Given the description of an element on the screen output the (x, y) to click on. 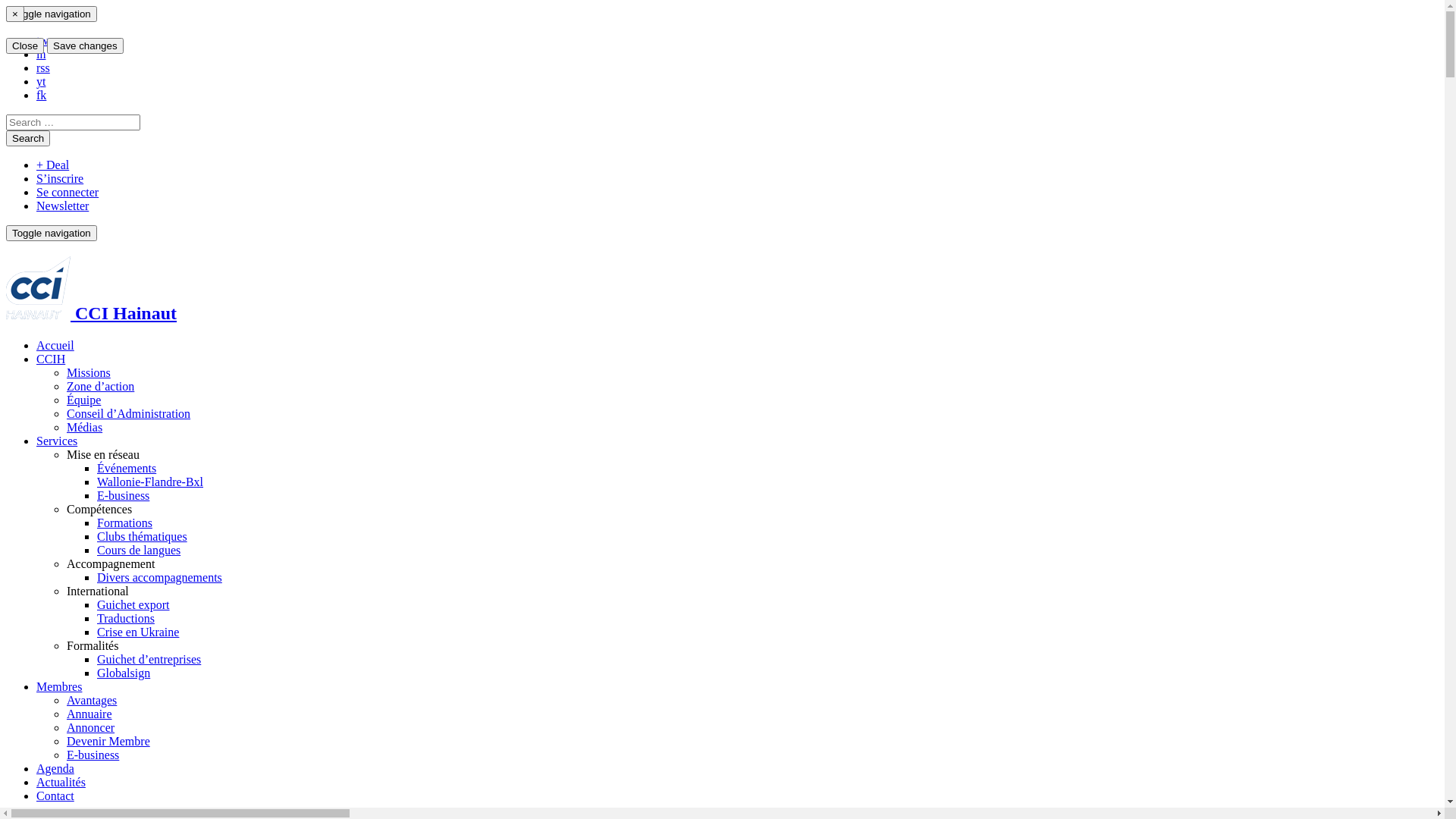
fk Element type: text (41, 94)
Globalsign Element type: text (123, 672)
Toggle navigation Element type: text (51, 233)
tw Element type: text (42, 40)
Divers accompagnements Element type: text (159, 577)
rss Element type: text (43, 67)
Services Element type: text (56, 440)
Annoncer Element type: text (90, 727)
Crise en Ukraine Element type: text (137, 631)
E-business Element type: text (92, 754)
CCIH Element type: text (50, 358)
yt Element type: text (40, 81)
Save changes Element type: text (84, 45)
Search Element type: text (28, 138)
Membres Element type: text (58, 686)
Toggle navigation Element type: text (51, 13)
Formations Element type: text (124, 522)
in Element type: text (40, 53)
E-business Element type: text (123, 495)
Avantages Element type: text (91, 699)
Newsletter Element type: text (62, 205)
Accompagnement Element type: text (110, 563)
Guichet export Element type: text (133, 604)
Wallonie-Flandre-Bxl Element type: text (150, 481)
Agenda Element type: text (55, 768)
Close Element type: text (24, 45)
Se connecter Element type: text (67, 191)
Traductions Element type: text (125, 617)
Accueil Element type: text (55, 344)
Annuaire Element type: text (89, 713)
International Element type: text (97, 590)
Cours de langues Element type: text (138, 549)
Devenir Membre Element type: text (108, 740)
+ Deal Element type: text (52, 164)
Missions Element type: text (88, 372)
CCI Hainaut Element type: text (91, 313)
Contact Element type: text (55, 795)
